Given the description of an element on the screen output the (x, y) to click on. 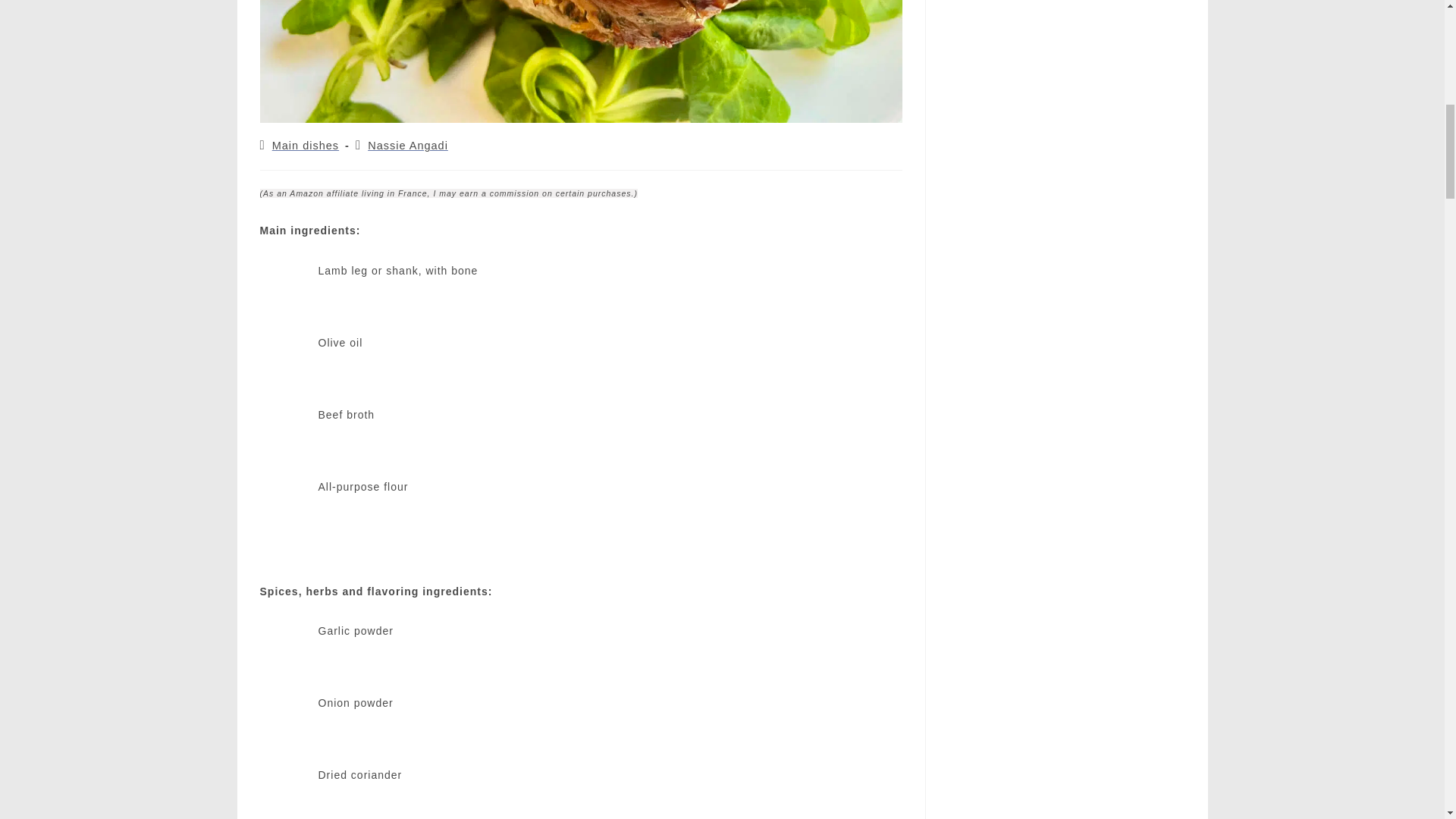
Lamb roast with garlic and rosemary 3 (285, 363)
Lamb roast with garlic and rosemary 6 (285, 652)
Lamb roast with garlic and rosemary 2 (285, 291)
Posts by Nassie Angadi (408, 145)
Lamb roast with garlic and rosemary 4 (285, 435)
Lamb roast with garlic and rosemary 8 (285, 796)
Lamb roast with garlic and rosemary 5 (285, 507)
Nassie Angadi (408, 145)
Main dishes (305, 145)
Lamb roast with garlic and rosemary 7 (285, 724)
